Given the description of an element on the screen output the (x, y) to click on. 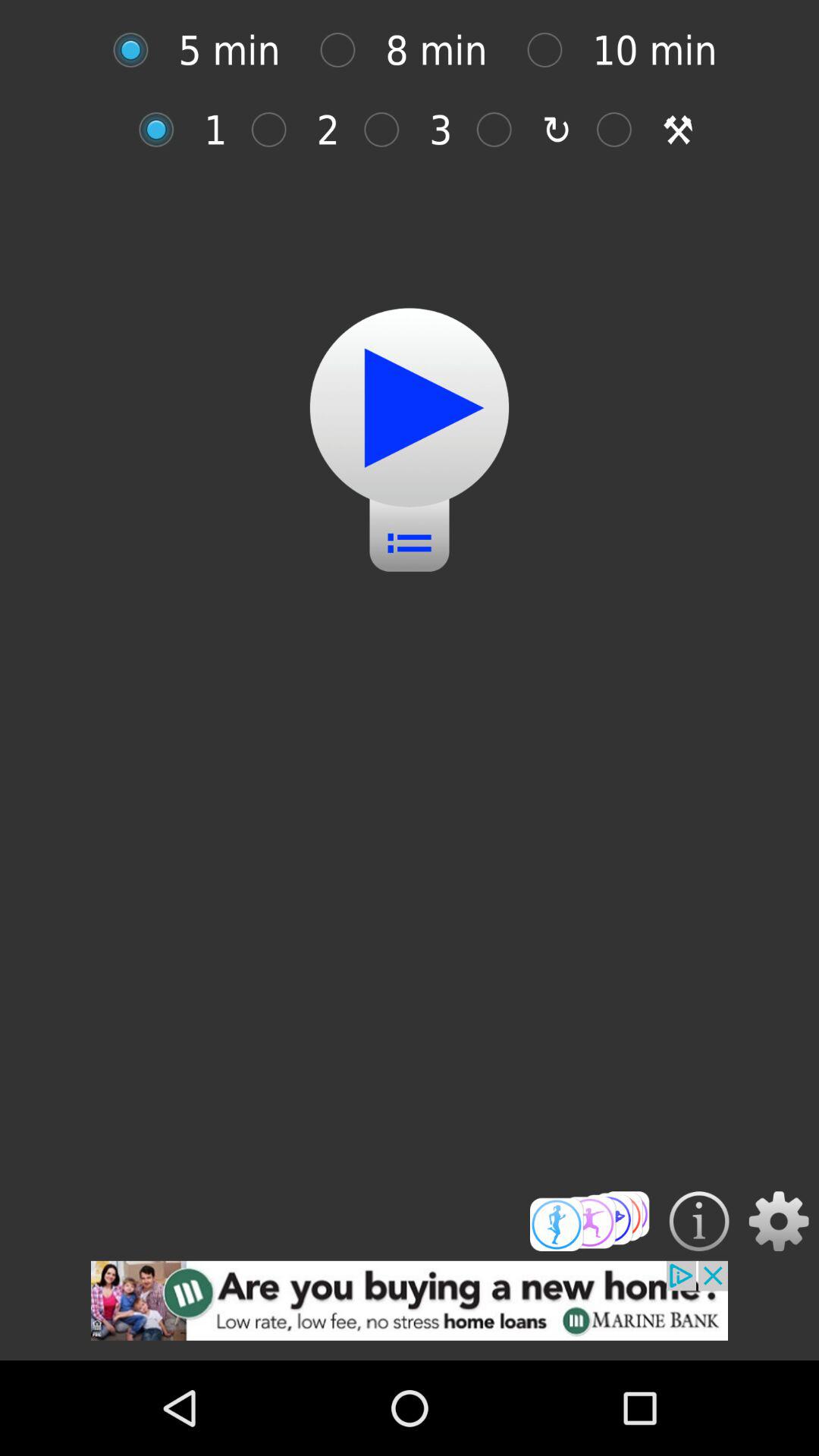
setting (778, 1221)
